Given the description of an element on the screen output the (x, y) to click on. 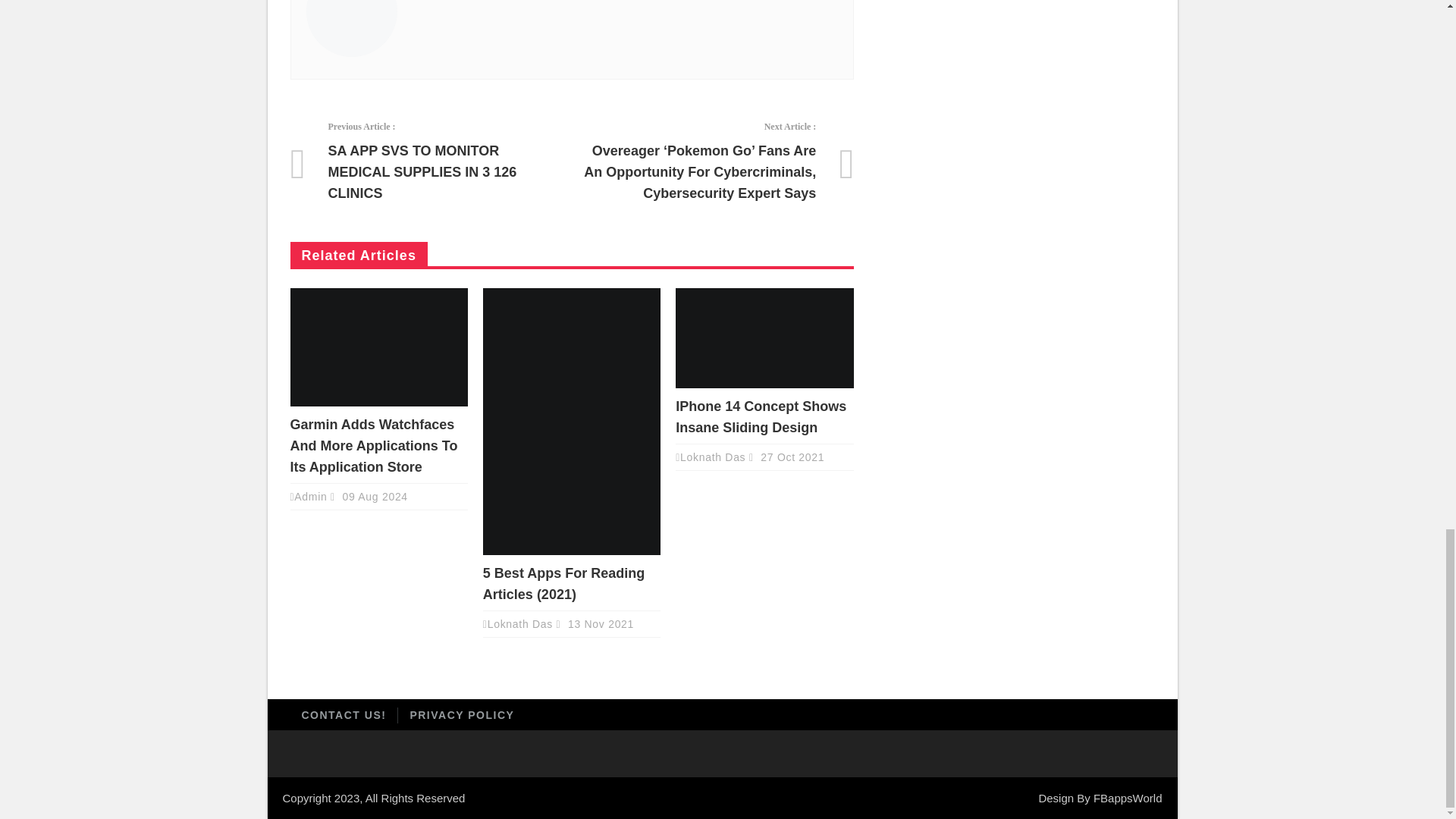
iPhone 14 concept shows insane sliding design (764, 338)
